Given the description of an element on the screen output the (x, y) to click on. 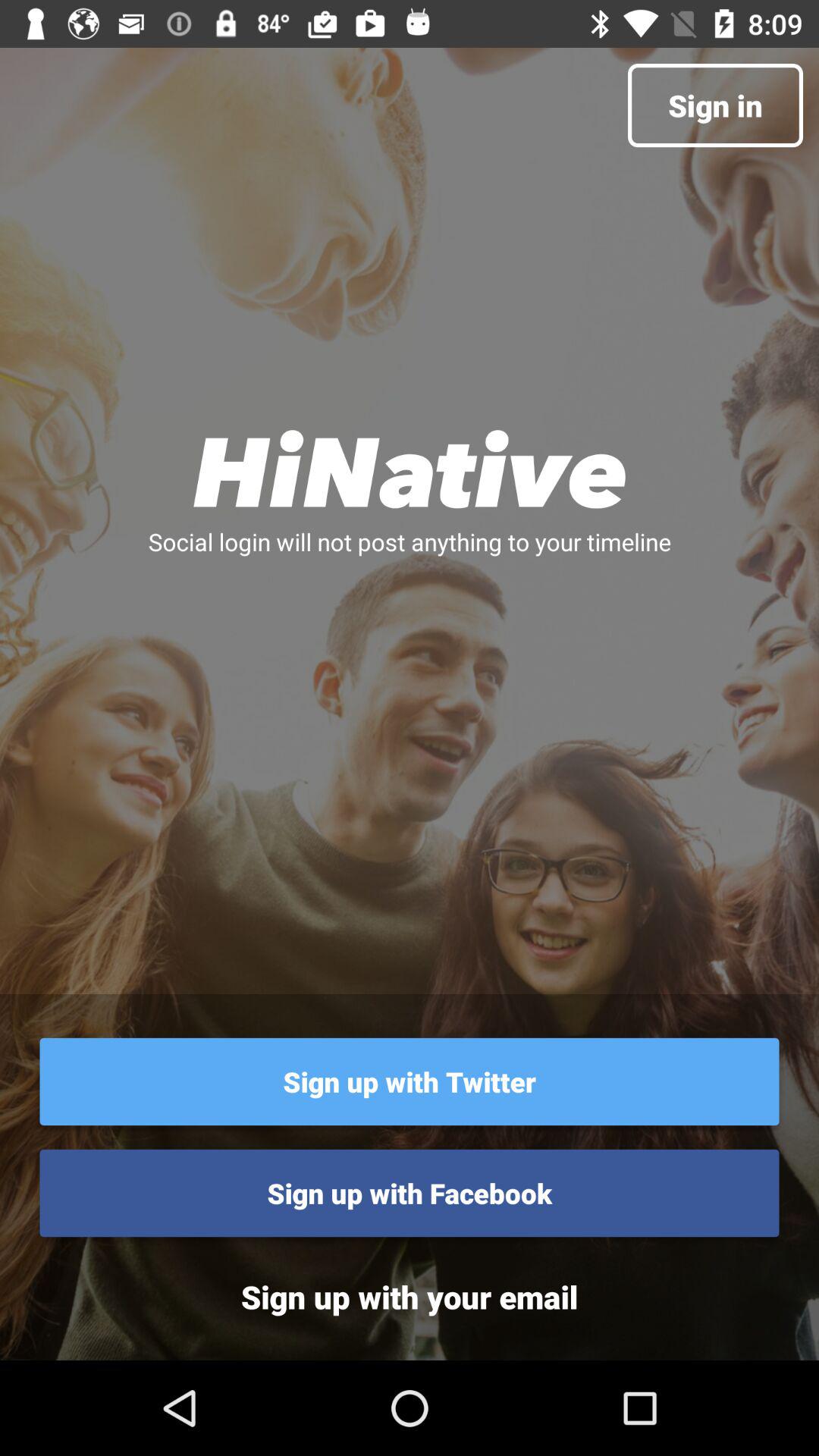
tap the sign in at the top right corner (715, 105)
